Given the description of an element on the screen output the (x, y) to click on. 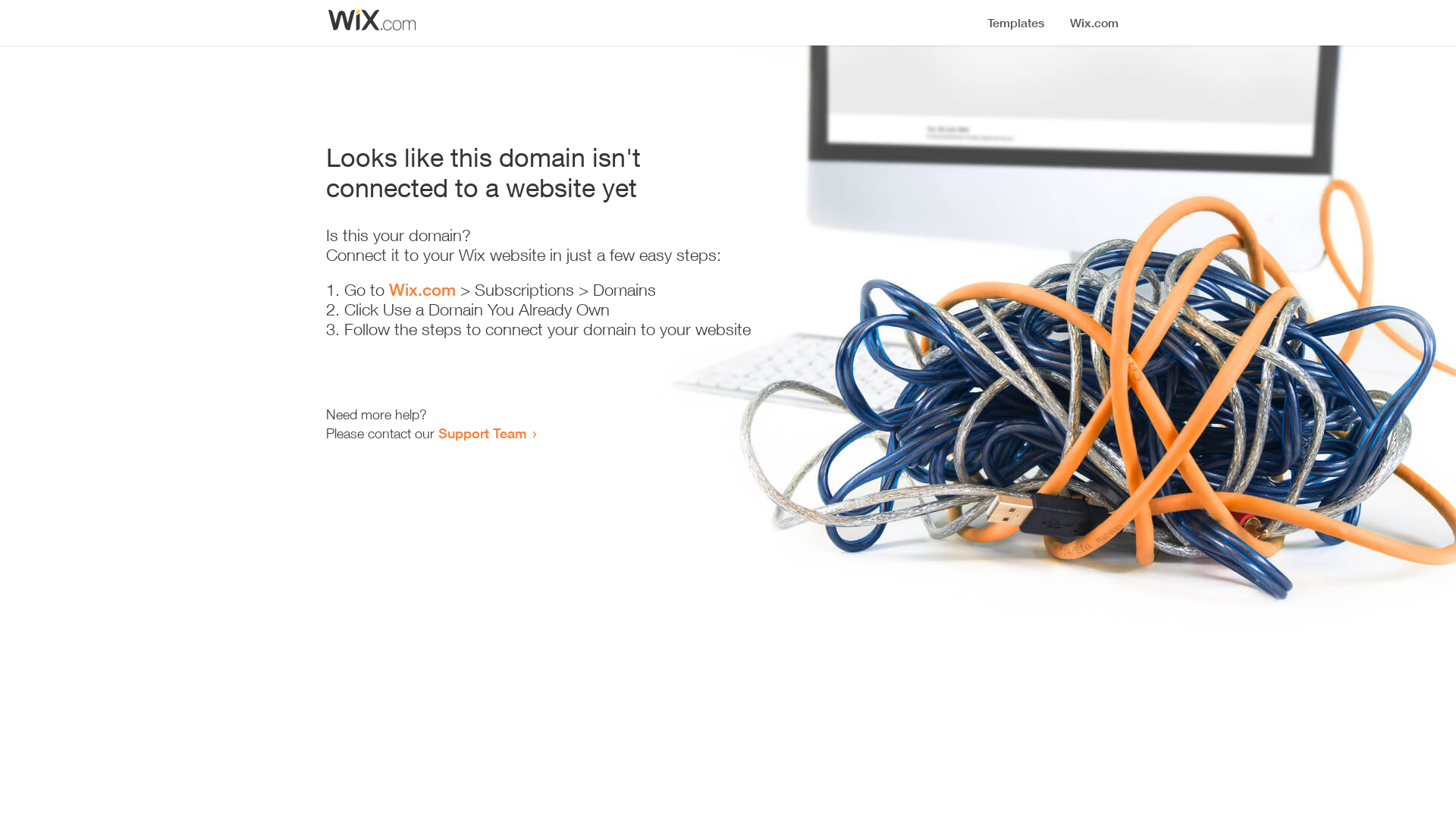
Wix.com Element type: text (422, 289)
Support Team Element type: text (482, 432)
